Given the description of an element on the screen output the (x, y) to click on. 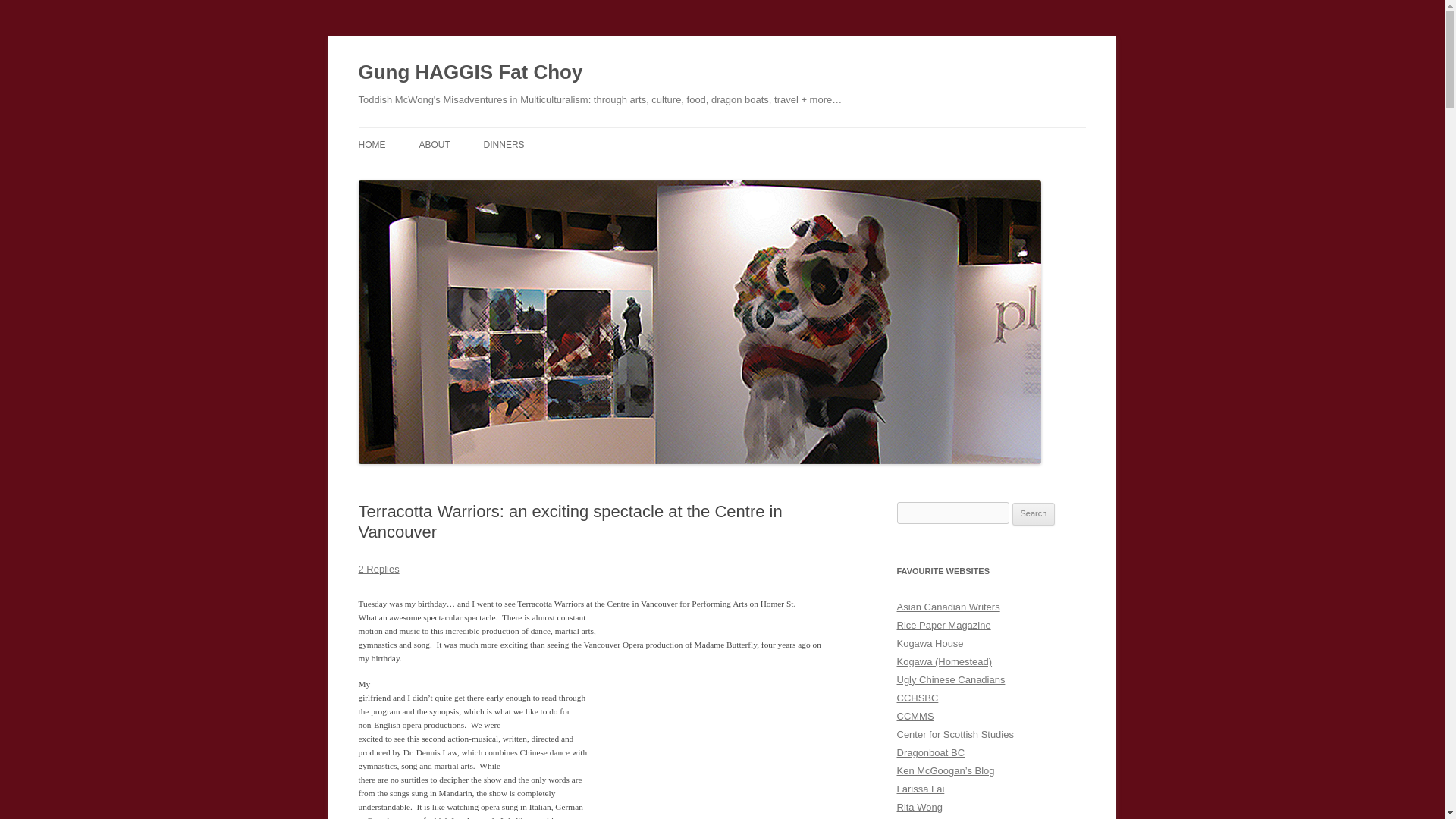
2 Replies (378, 568)
Center for Scottish Studies (954, 734)
Larissa Lai (919, 788)
Asian Canadian Writers (947, 606)
Search (1033, 513)
CCHSBC (916, 697)
CCMMS (914, 715)
Gung HAGGIS Fat Choy (470, 72)
Rita Wong (919, 807)
Dragonboat BC (929, 752)
Rice Paper Magazine (943, 624)
Kogawa House (929, 643)
Search (1033, 513)
DINNERS (503, 144)
